Given the description of an element on the screen output the (x, y) to click on. 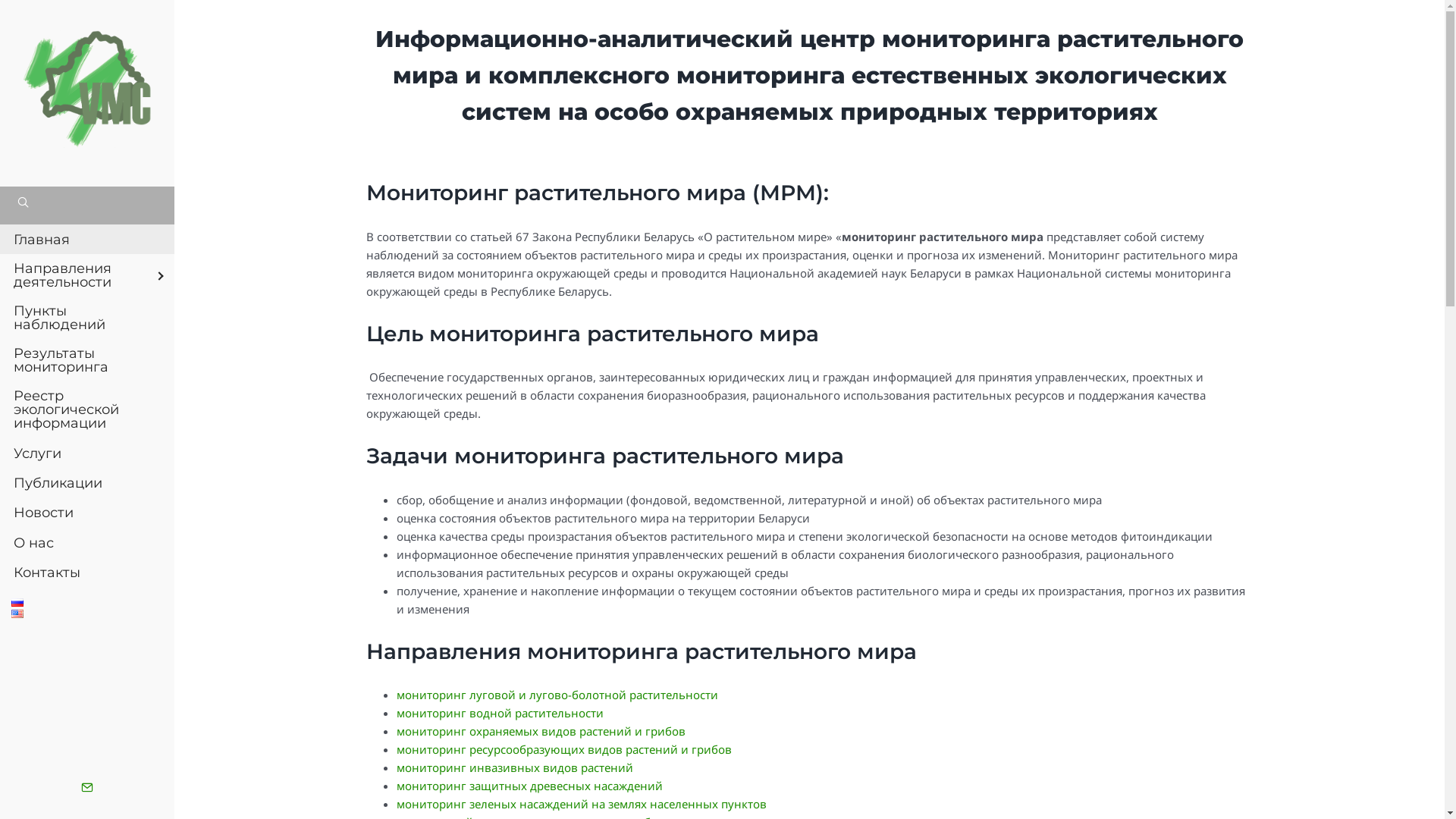
Search Element type: text (32, 11)
